Given the description of an element on the screen output the (x, y) to click on. 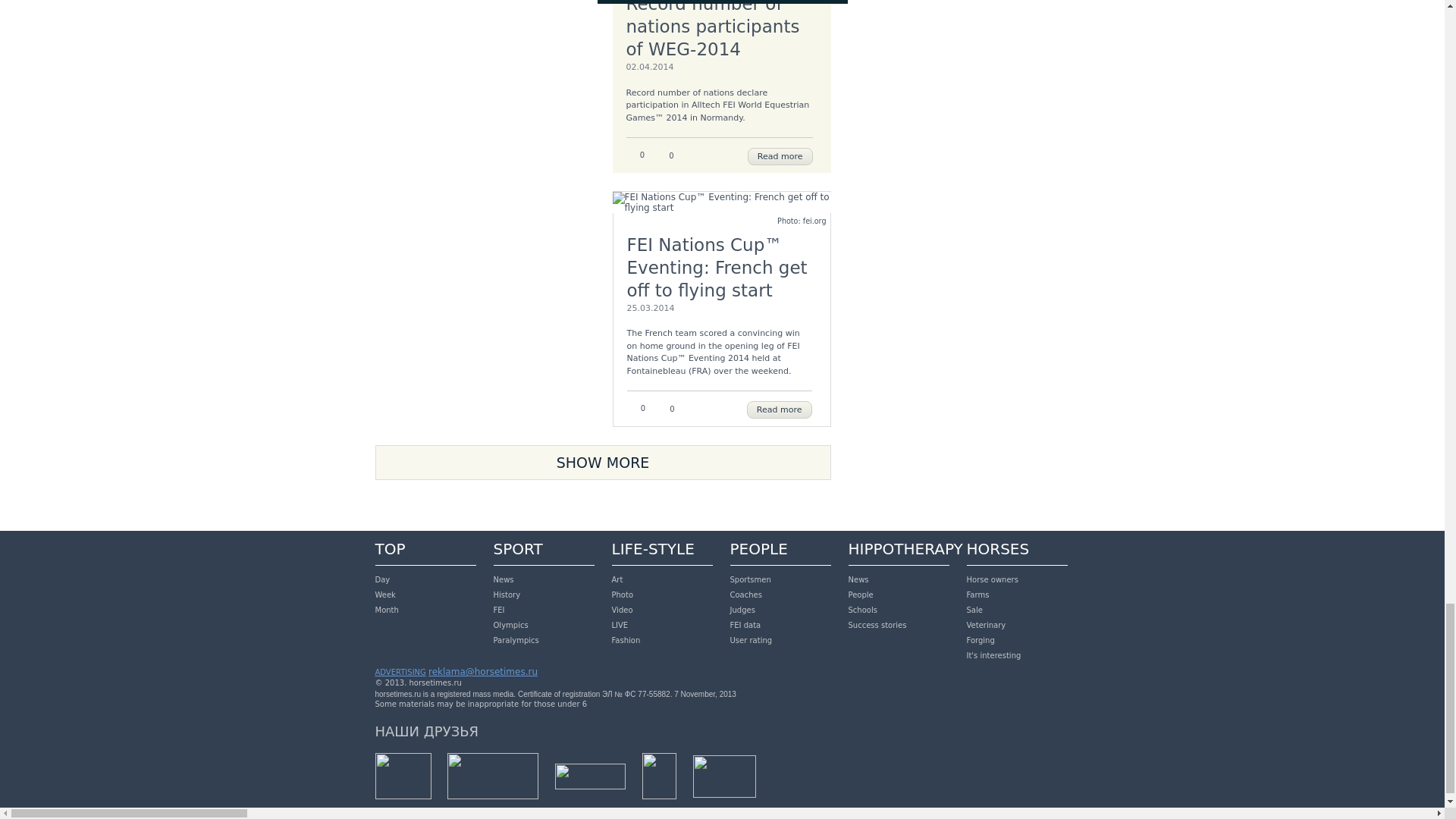
Read more (780, 156)
Read more (779, 409)
SHOW MORE (601, 462)
